Given the description of an element on the screen output the (x, y) to click on. 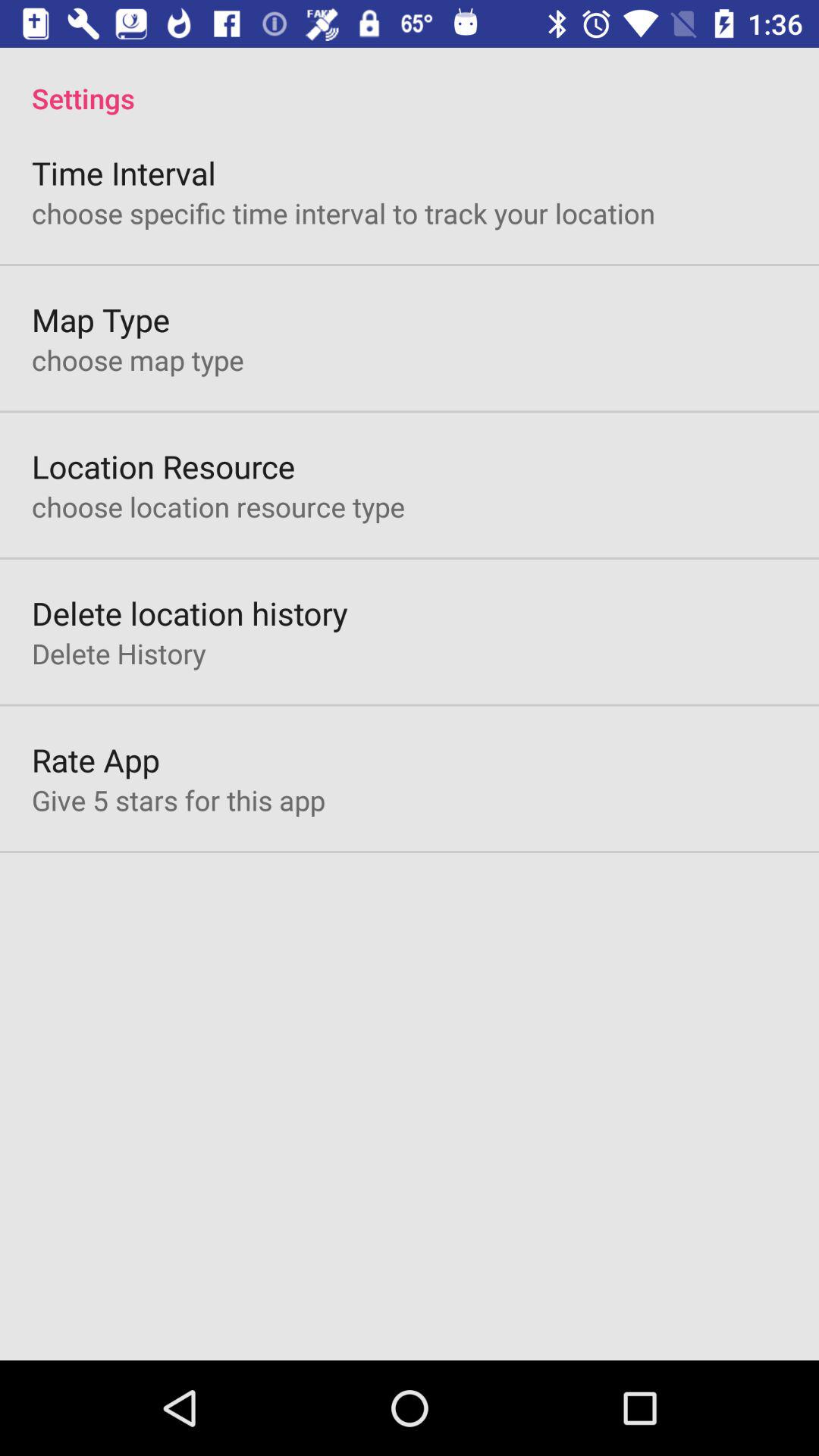
flip to give 5 stars app (178, 800)
